Given the description of an element on the screen output the (x, y) to click on. 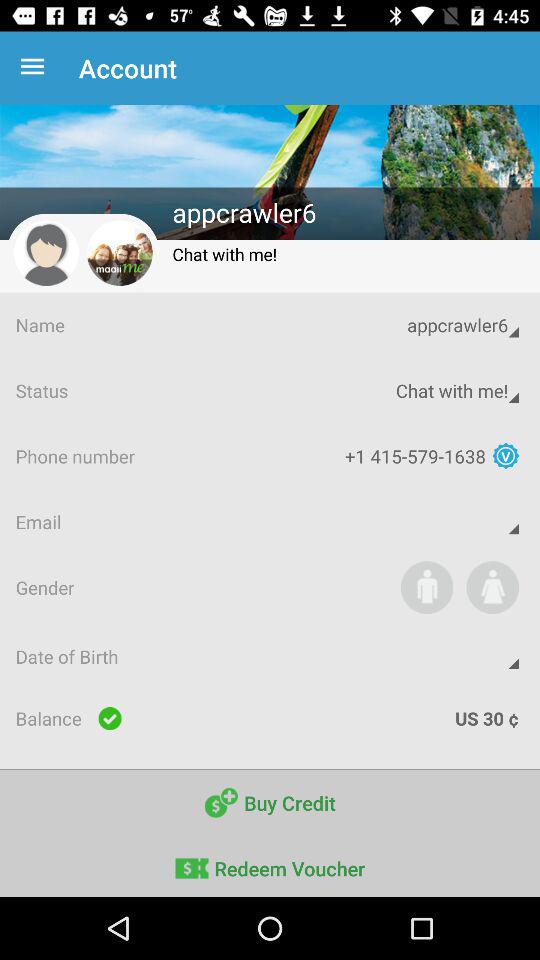
tap the buy credit icon (270, 802)
